Given the description of an element on the screen output the (x, y) to click on. 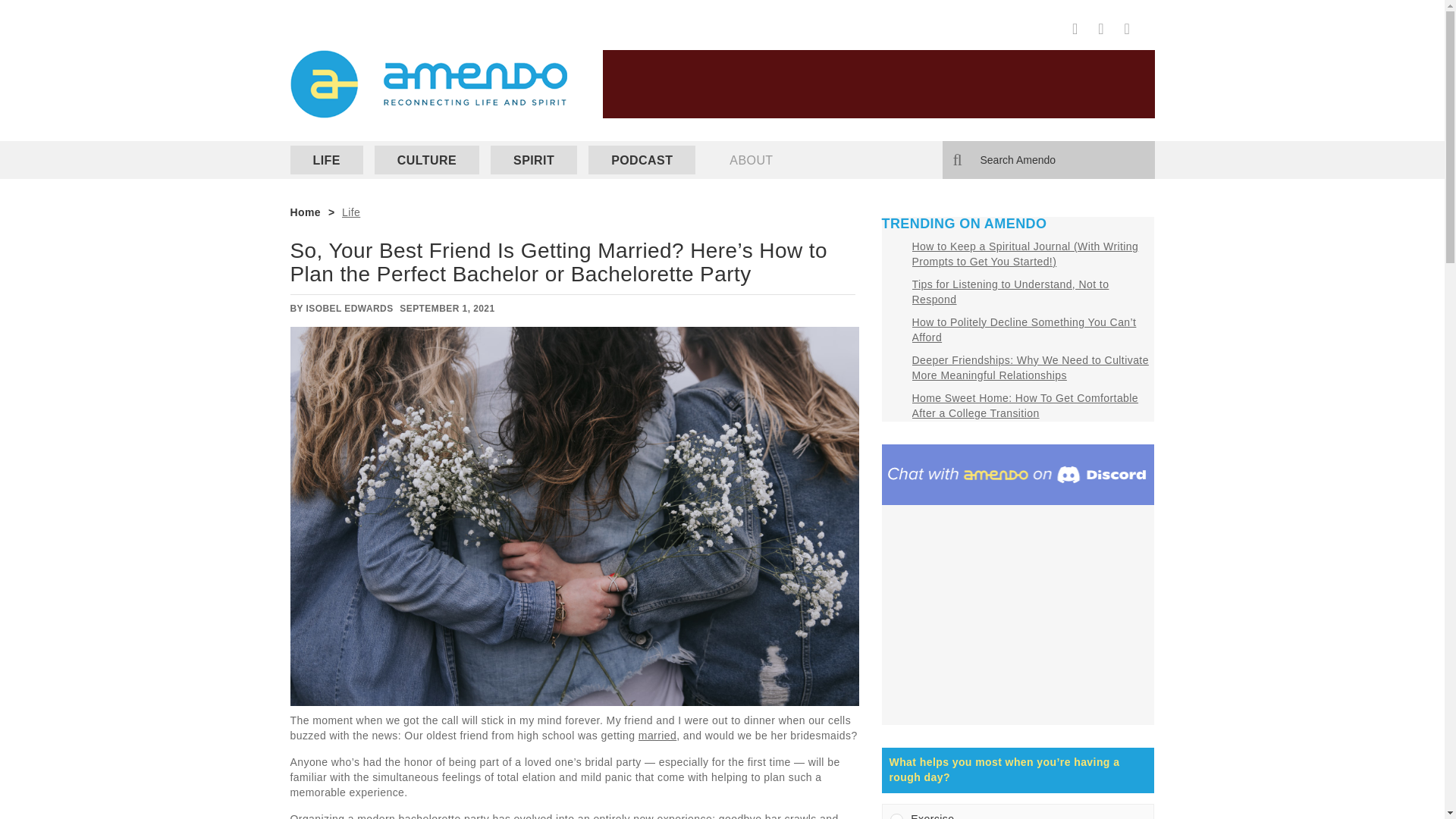
Search for: (1048, 159)
CULTURE (426, 159)
Tips for Listening to Understand, Not to Respond (1009, 291)
Life (350, 212)
LIFE (325, 159)
ISOBEL EDWARDS (349, 308)
PODCAST (641, 159)
married (658, 735)
Home (304, 212)
ABOUT (750, 159)
SPIRIT (533, 159)
